Given the description of an element on the screen output the (x, y) to click on. 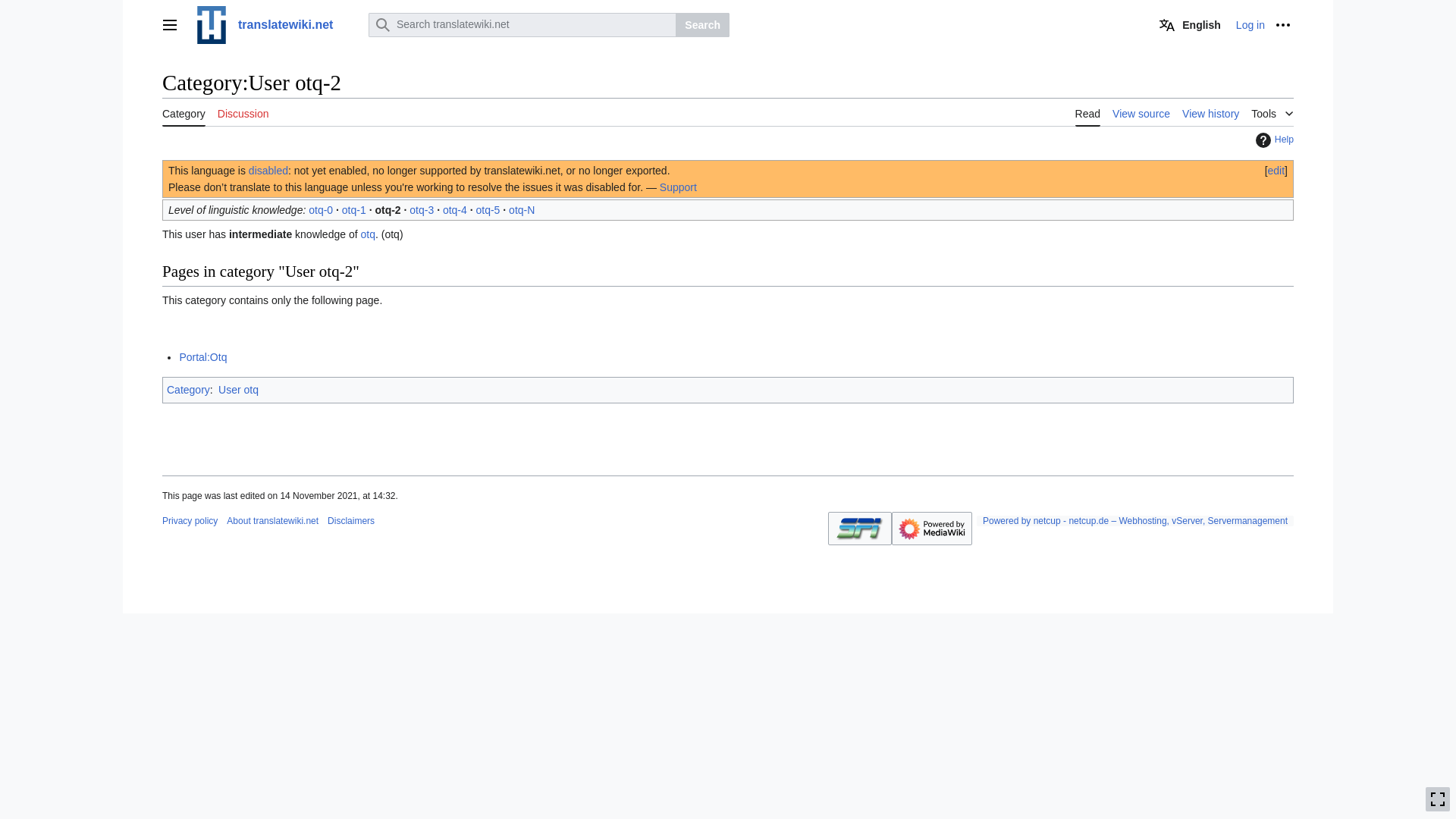
Read (1087, 112)
translatewiki.net (276, 24)
Support (678, 186)
Edit section: this notice (1276, 170)
Log in (1250, 24)
More options (1283, 24)
View history (1210, 112)
Category (183, 112)
Help (1273, 140)
edit (1276, 170)
disabled (268, 170)
Search (702, 24)
View source (1141, 112)
English (1190, 24)
Discussion (242, 112)
